Given the description of an element on the screen output the (x, y) to click on. 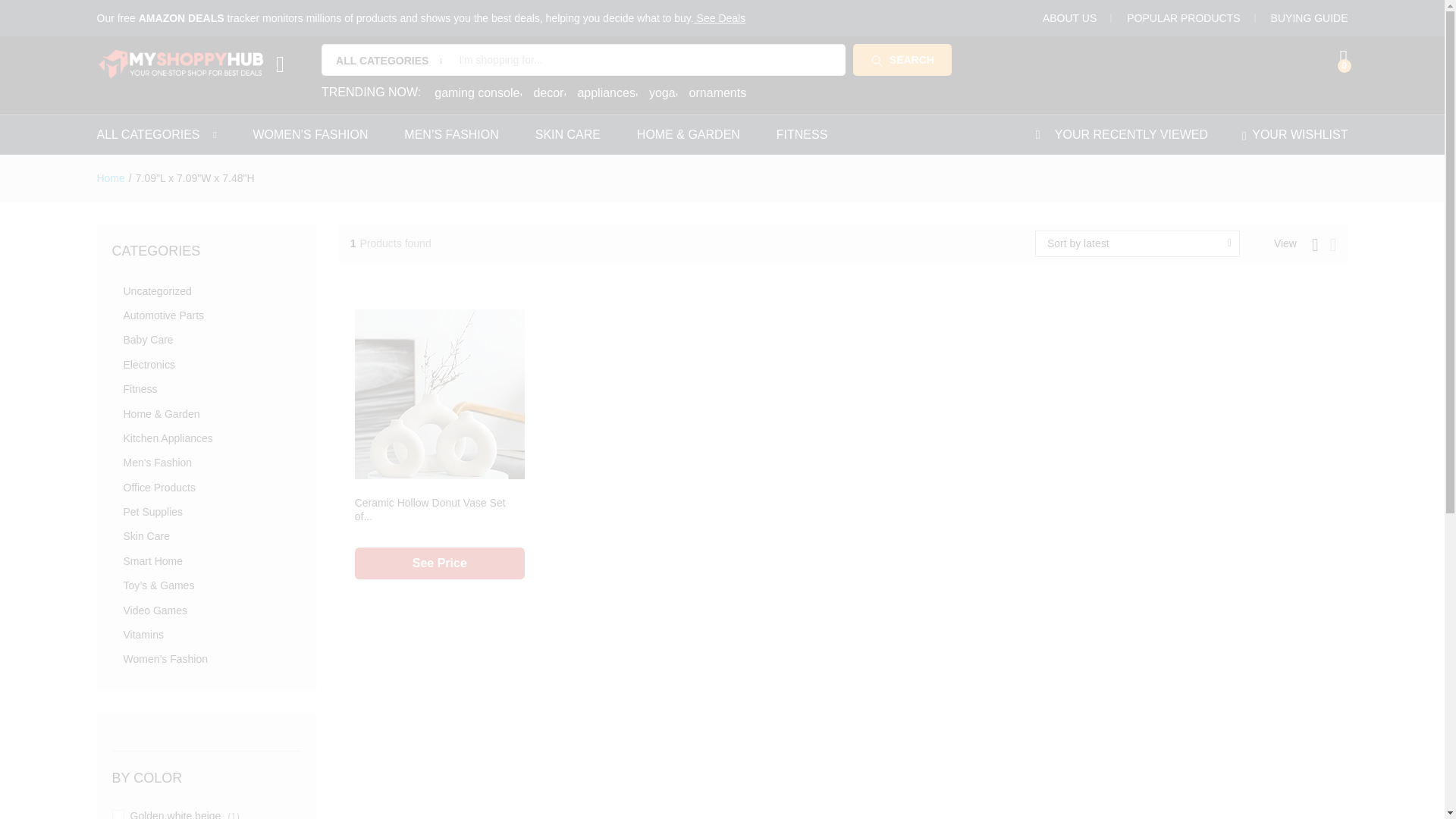
POPULAR PRODUCTS (1183, 18)
yoga (663, 92)
decor (549, 92)
SEARCH (902, 60)
ornaments (717, 92)
ABOUT US (1069, 18)
See Deals (719, 18)
appliances (607, 92)
gaming console (477, 92)
ALL CATEGORIES (148, 134)
BUYING GUIDE (1309, 18)
